Given the description of an element on the screen output the (x, y) to click on. 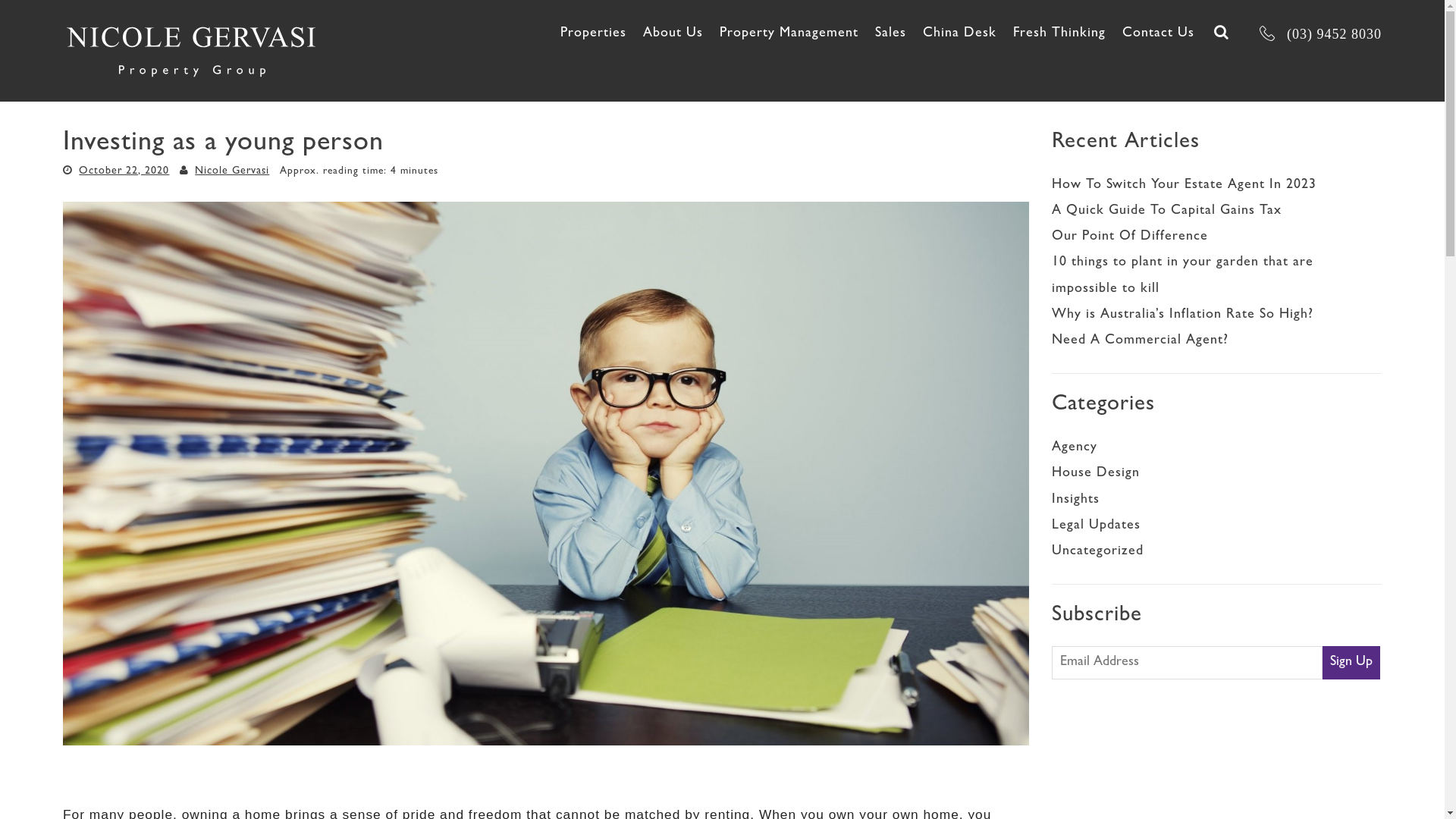
Sales Element type: text (890, 34)
About Us Element type: text (672, 34)
Our Point Of Difference Element type: text (1129, 237)
Insights Element type: text (1075, 500)
Properties Element type: text (593, 34)
October 22, 2020 Element type: text (123, 171)
Agency Element type: text (1074, 448)
Sign Up Element type: text (1351, 662)
Need A Commercial Agent? Element type: text (1139, 341)
A Quick Guide To Capital Gains Tax Element type: text (1166, 211)
Fresh Thinking Element type: text (1059, 34)
China Desk Element type: text (959, 34)
House Design Element type: text (1095, 473)
Contact Us Element type: text (1158, 34)
Property Management Element type: text (788, 34)
Uncategorized Element type: text (1097, 551)
Nicole Gervasi Element type: text (231, 171)
How To Switch Your Estate Agent In 2023 Element type: text (1183, 185)
Legal Updates Element type: text (1095, 526)
